Given the description of an element on the screen output the (x, y) to click on. 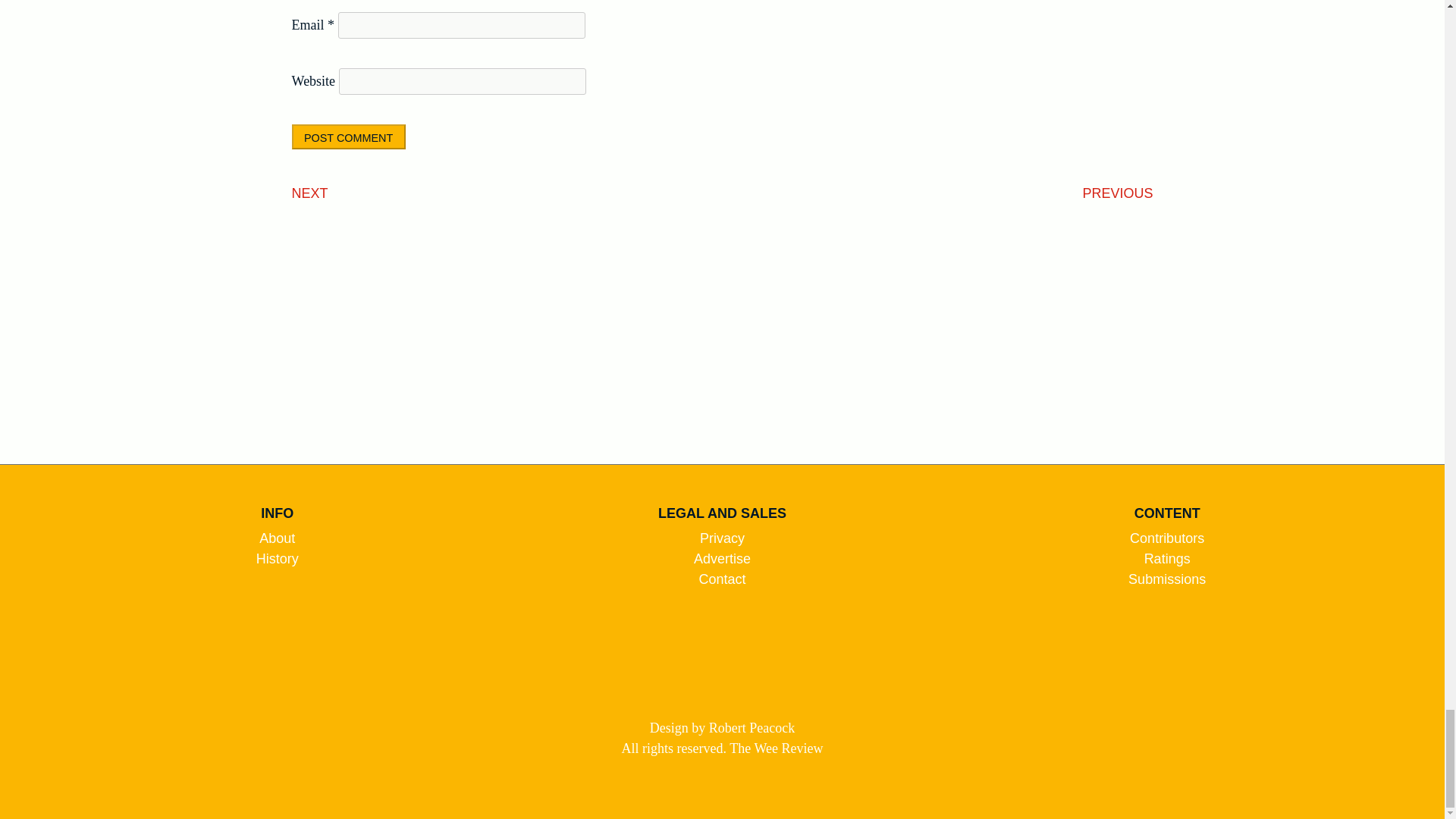
Post Comment (349, 136)
